Given the description of an element on the screen output the (x, y) to click on. 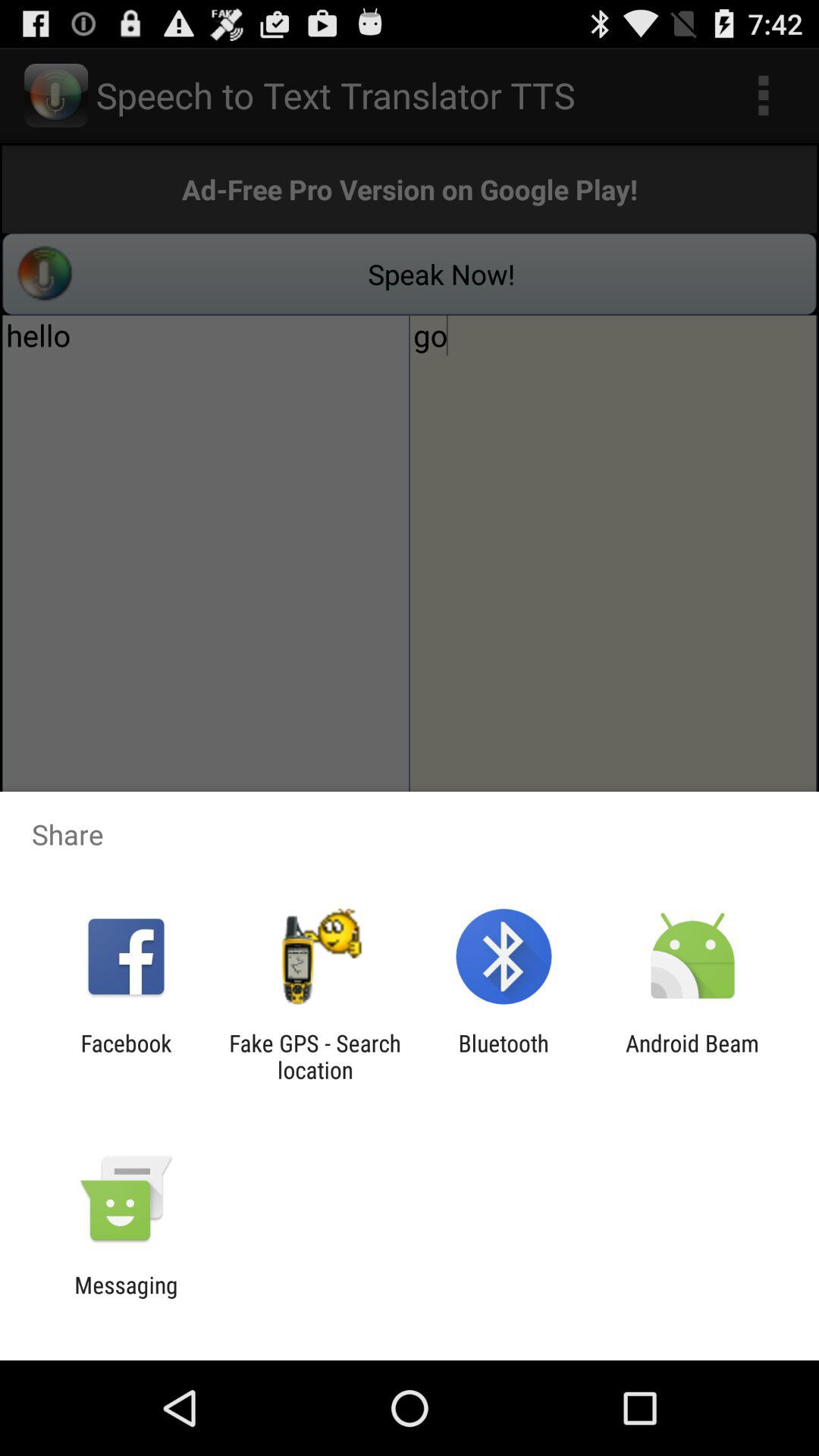
open item to the right of the bluetooth (692, 1056)
